Given the description of an element on the screen output the (x, y) to click on. 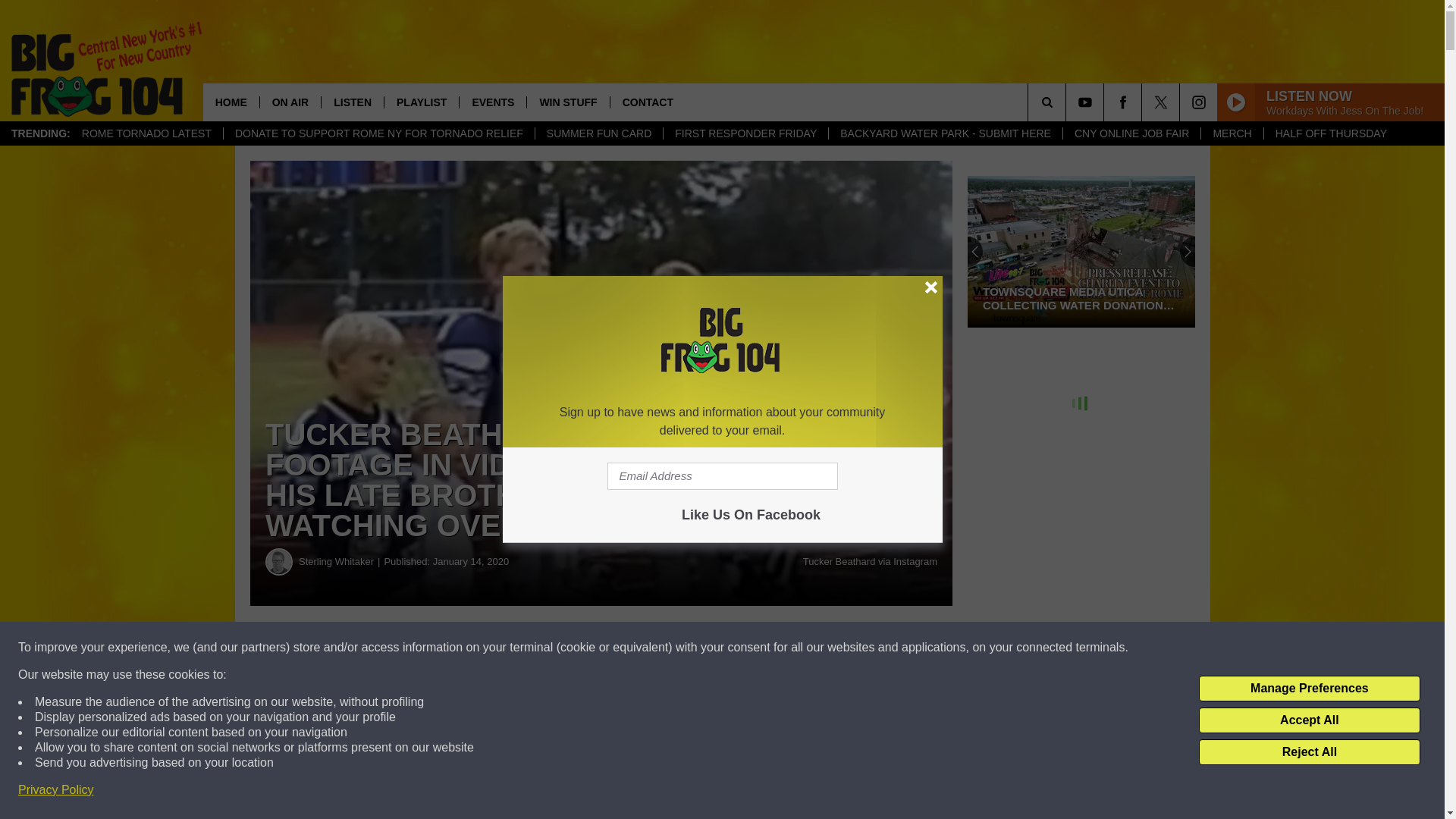
Share on Facebook (460, 647)
HOME (231, 102)
SUMMER FUN CARD (598, 133)
SEARCH (1068, 102)
ON AIR (289, 102)
CNY ONLINE JOB FAIR (1130, 133)
LISTEN (352, 102)
Manage Preferences (1309, 688)
Accept All (1309, 720)
ROME TORNADO LATEST (145, 133)
Reject All (1309, 751)
MERCH (1230, 133)
Email Address (722, 475)
FIRST RESPONDER FRIDAY (745, 133)
EVENTS (491, 102)
